Given the description of an element on the screen output the (x, y) to click on. 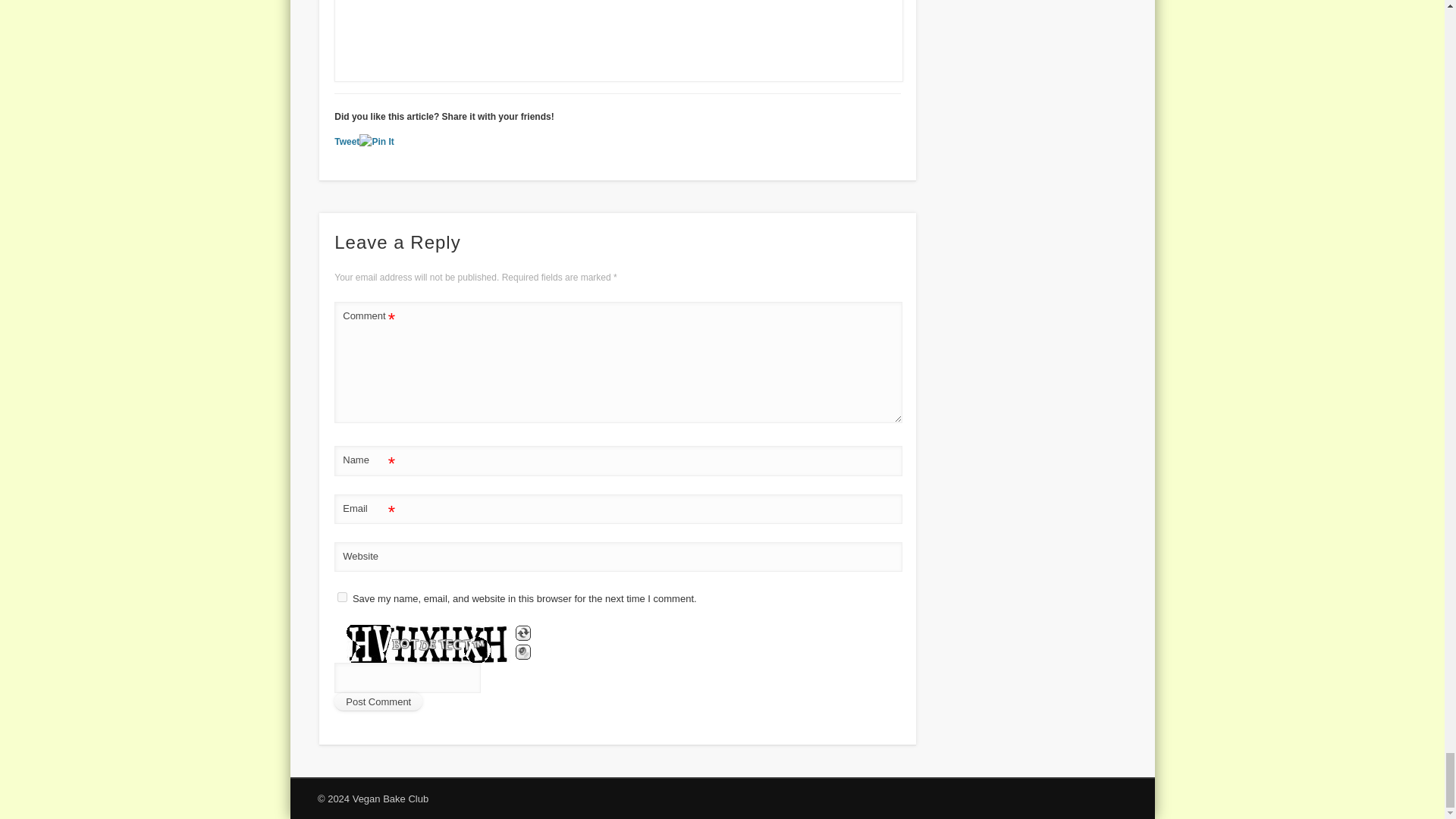
yes (342, 596)
Speak the CAPTCHA code (523, 652)
Tweet (346, 141)
Change the CAPTCHA code (523, 632)
Post Comment (378, 701)
What is the WordPress CAPTCHA Plugin? (423, 643)
Post Comment (378, 701)
Pin It (376, 141)
